Given the description of an element on the screen output the (x, y) to click on. 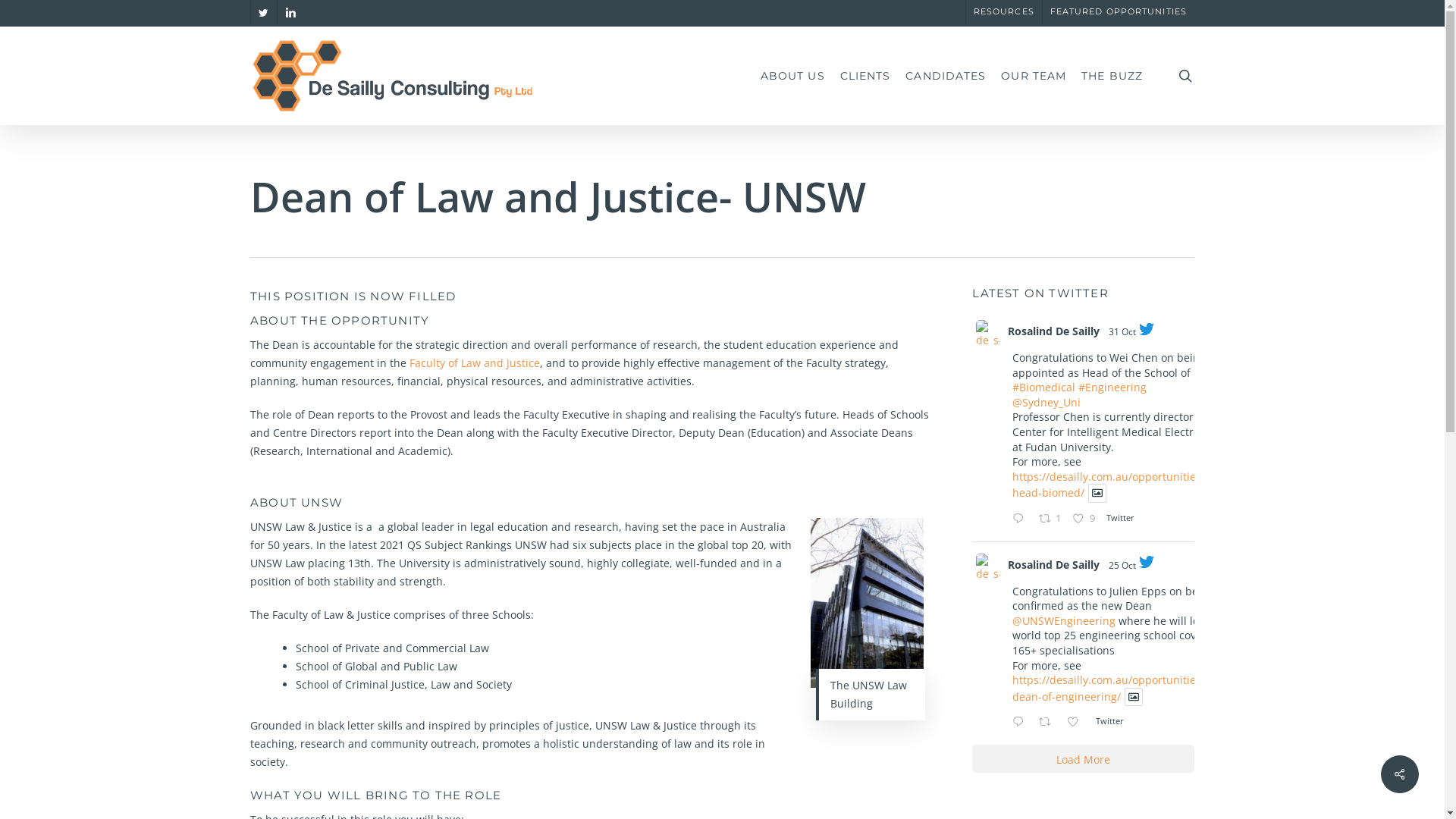
LINKEDIN Element type: text (290, 12)
Load More Element type: text (1083, 758)
THE BUZZ Element type: text (1111, 75)
25 Oct Element type: text (1121, 564)
Reply on Twitter 1717075263044173871 Element type: text (1021, 722)
CLIENTS Element type: text (865, 75)
31 Oct Element type: text (1121, 331)
Rosalind De Sailly Element type: text (1053, 330)
Faculty of Law and Justice Element type: text (474, 362)
CANDIDATES Element type: text (945, 75)
ABOUT US Element type: text (792, 75)
search Element type: text (1185, 75)
Rosalind De Sailly Element type: text (1053, 564)
Retweet on Twitter 1717075263044173871 Element type: text (1049, 722)
Reply on Twitter 1719230751869424069 Element type: text (1021, 519)
#Biomedical Element type: text (1043, 386)
Twitter 1719230751869424069 Element type: text (1123, 517)
@Sydney_Uni Element type: text (1046, 402)
Like on Twitter 1719230751869424069
9 Element type: text (1084, 519)
Like on Twitter 1717075263044173871 Element type: text (1077, 722)
https://desailly.com.au/opportunities/usyd-head-biomed/ Element type: text (1122, 484)
TWITTER Element type: text (263, 12)
Twitter 1717075263044173871 Element type: text (1112, 720)
OUR TEAM Element type: text (1033, 75)
RESOURCES Element type: text (1003, 11)
FEATURED OPPORTUNITIES Element type: text (1117, 11)
Retweet on Twitter 1719230751869424069
1 Element type: text (1051, 519)
#Engineering Element type: text (1112, 386)
@UNSWEngineering Element type: text (1063, 620)
